Given the description of an element on the screen output the (x, y) to click on. 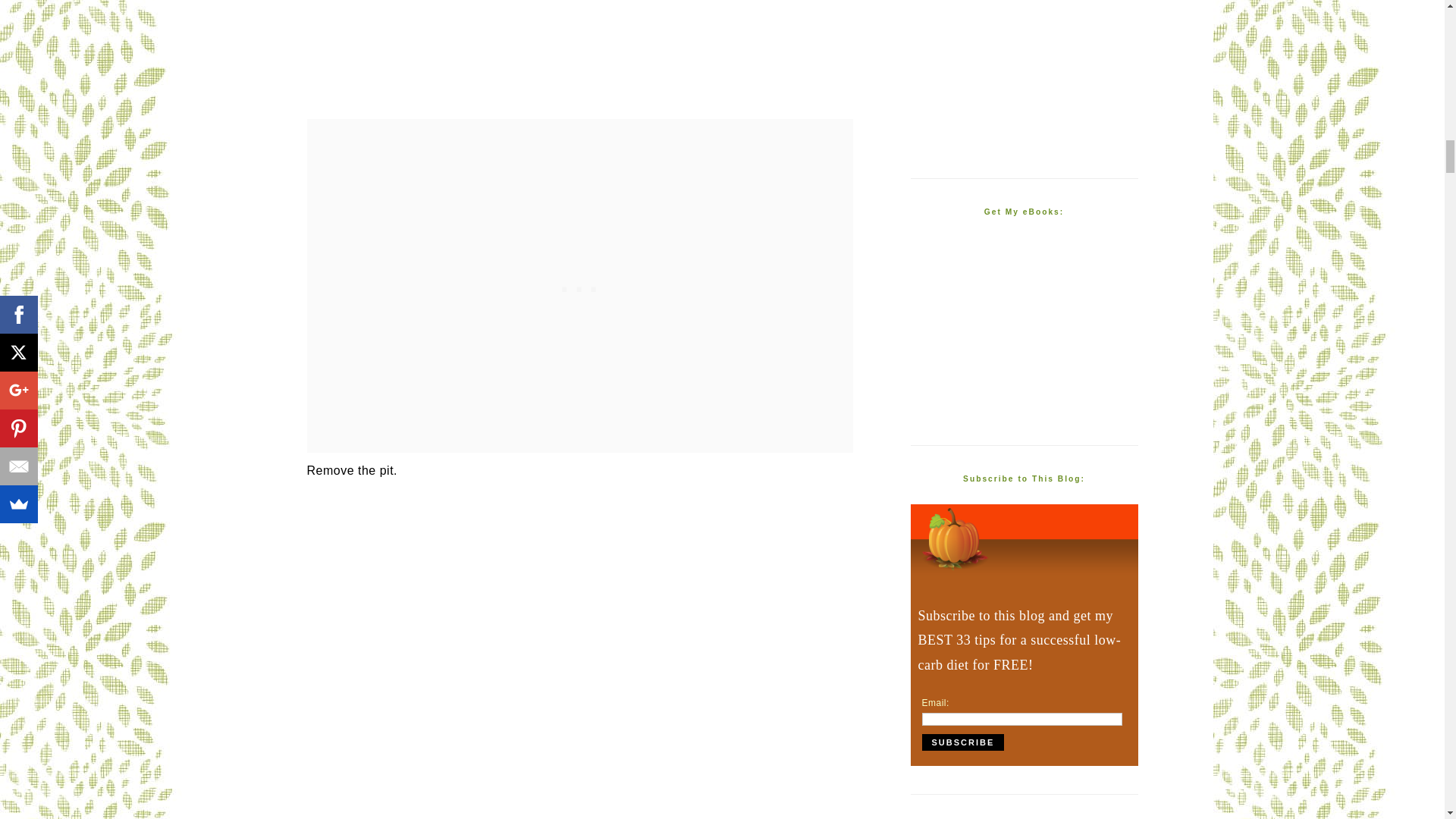
Subscribe (962, 742)
